Given the description of an element on the screen output the (x, y) to click on. 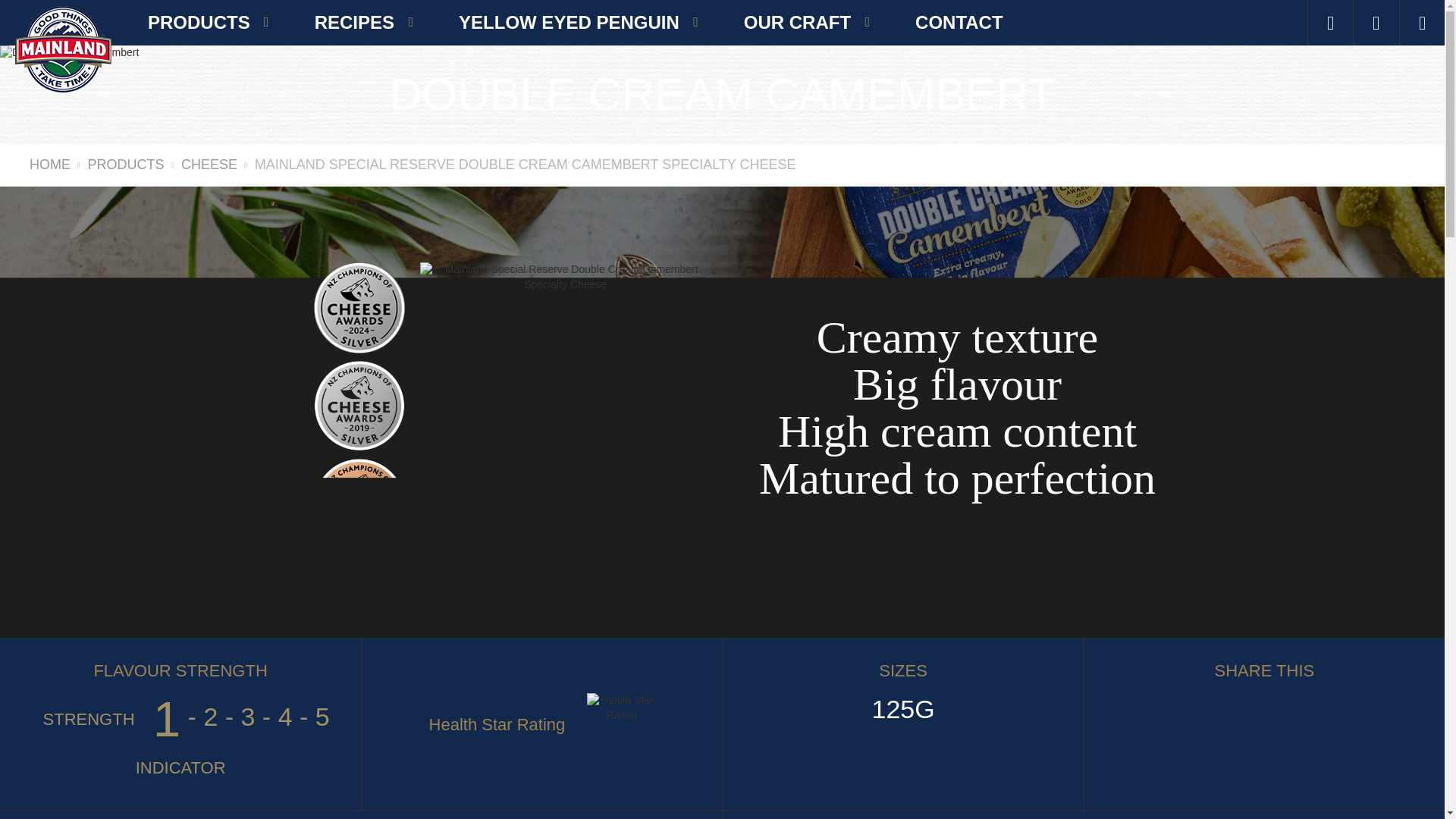
YELLOW EYED PENGUIN (577, 22)
Recipes (363, 22)
RECIPES (363, 22)
Products (208, 22)
Mainland (63, 48)
PRODUCTS (208, 22)
